Given the description of an element on the screen output the (x, y) to click on. 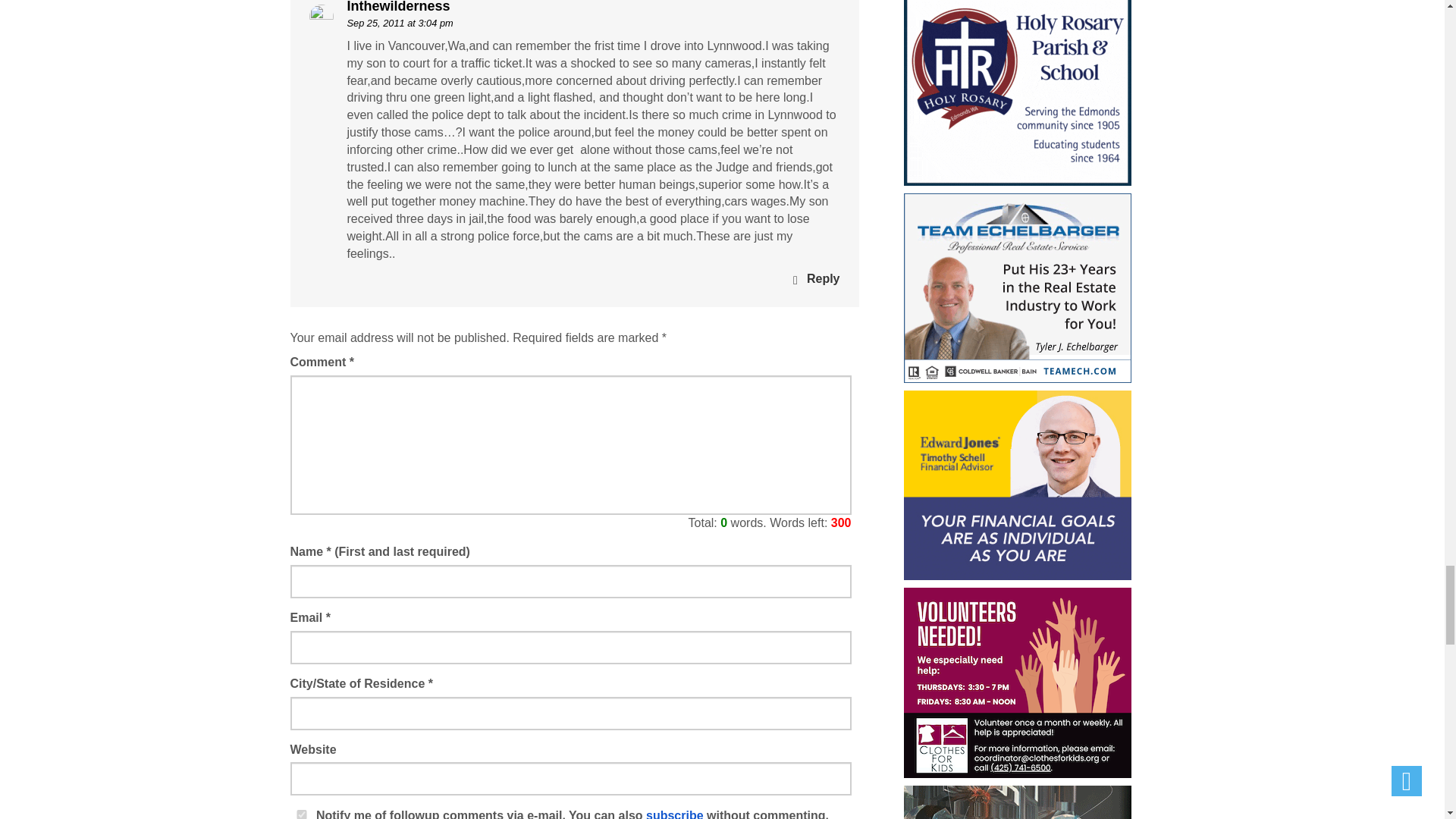
yes (301, 814)
